Given the description of an element on the screen output the (x, y) to click on. 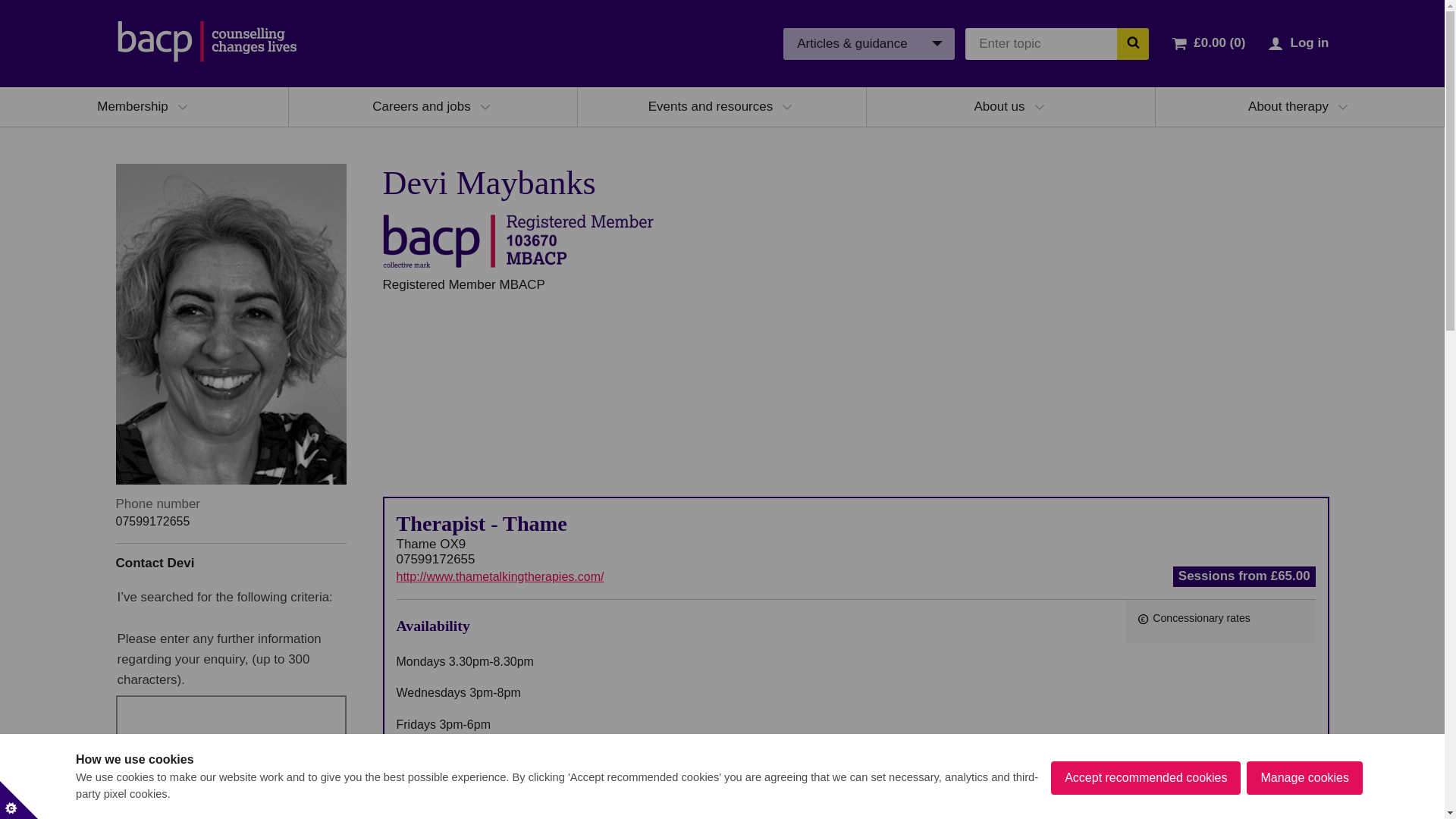
Accept recommended cookies (1145, 777)
Search the BACP website (1132, 42)
Manage cookies (1304, 777)
Careers and jobs (421, 106)
Membership (132, 106)
Events and resources (710, 106)
Log in (1309, 42)
